Given the description of an element on the screen output the (x, y) to click on. 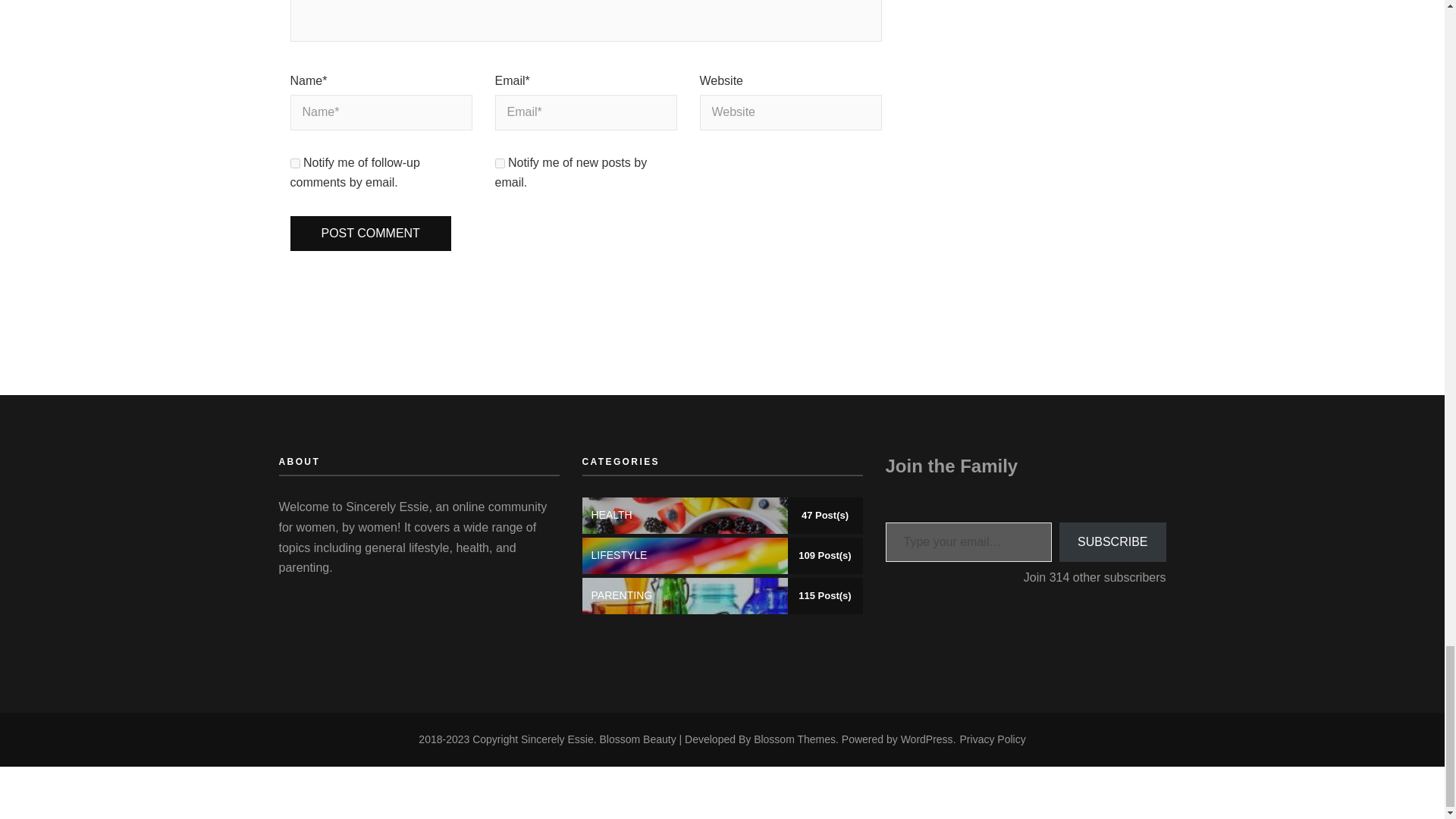
Post Comment (369, 233)
subscribe (294, 163)
subscribe (499, 163)
